Given the description of an element on the screen output the (x, y) to click on. 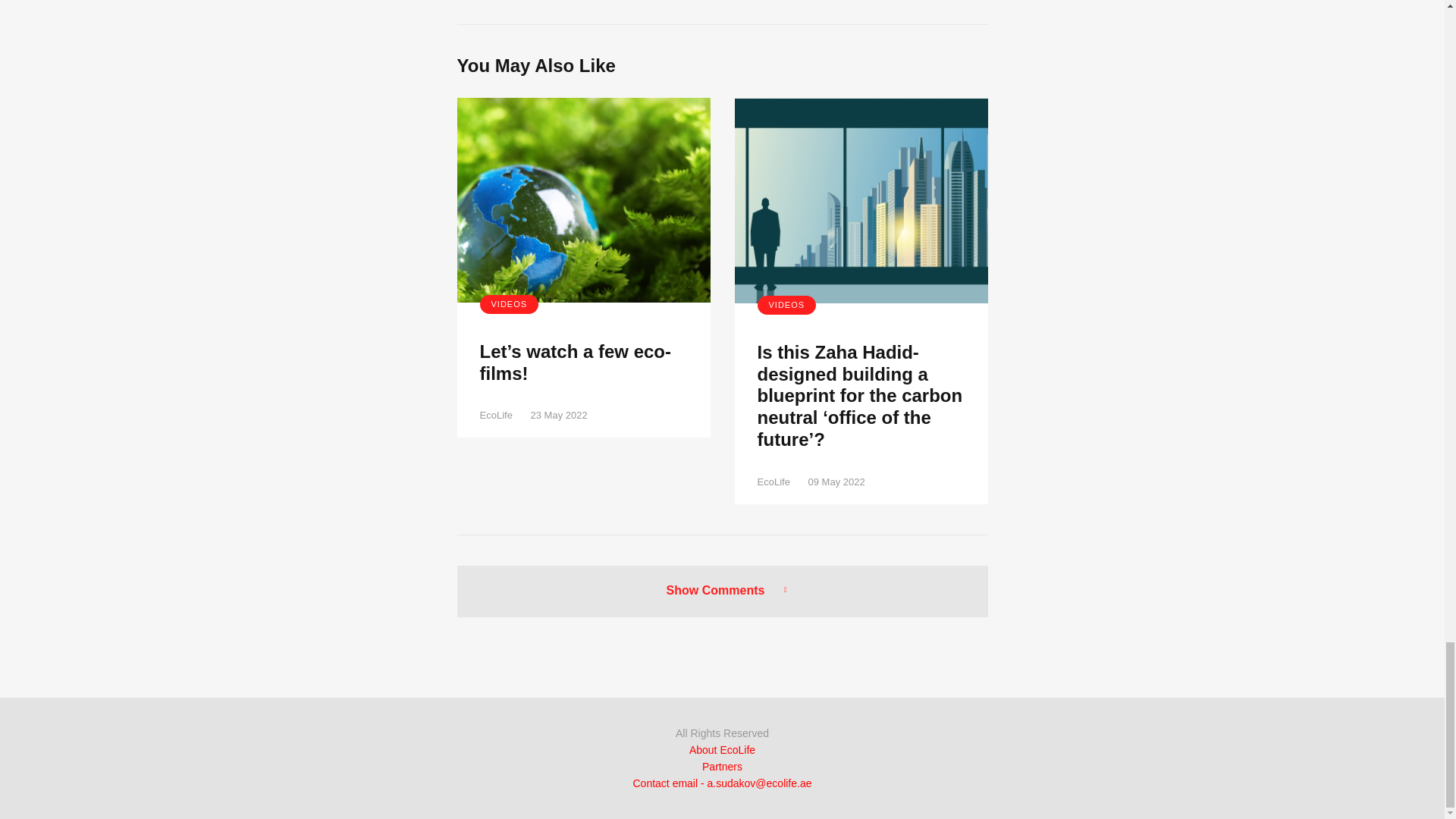
Posts by EcoLife (495, 414)
Posts by EcoLife (773, 481)
